Given the description of an element on the screen output the (x, y) to click on. 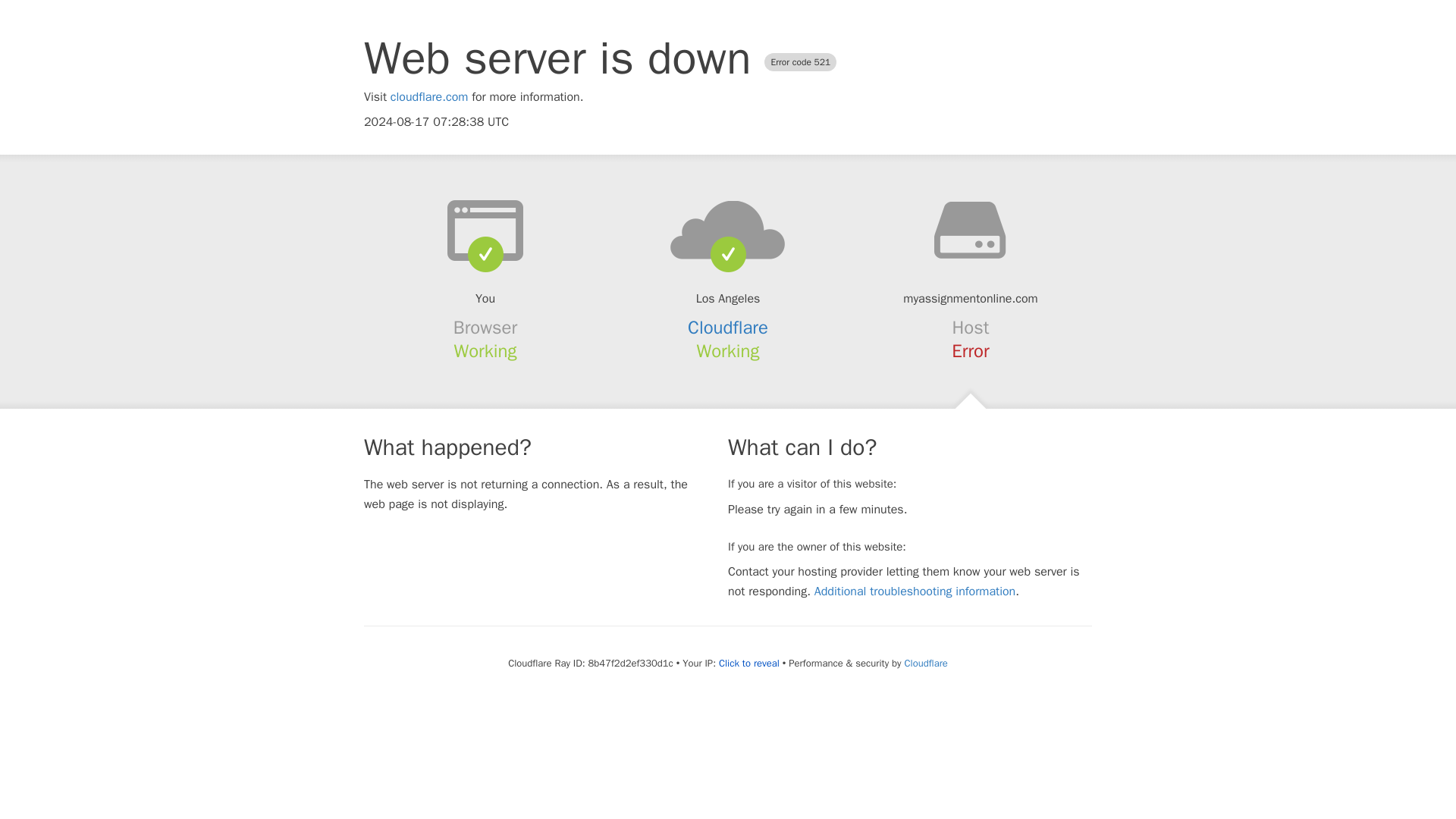
Click to reveal (748, 663)
Cloudflare (727, 327)
Additional troubleshooting information (913, 590)
cloudflare.com (429, 96)
Cloudflare (925, 662)
